Given the description of an element on the screen output the (x, y) to click on. 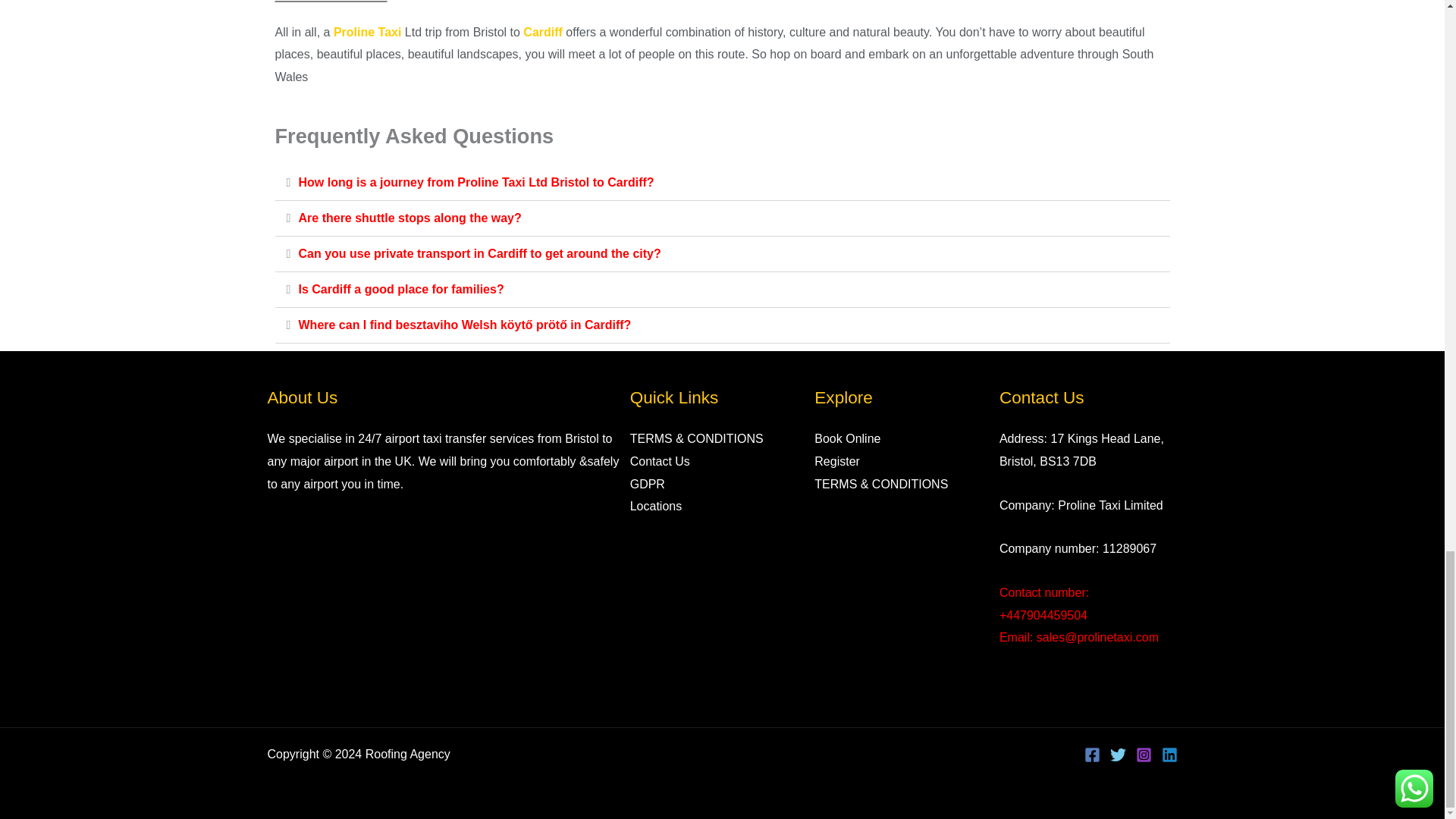
Cardiff (542, 31)
Is Cardiff a good place for families? (400, 288)
Are there shuttle stops along the way? (409, 217)
Proline Taxi (367, 31)
